Given the description of an element on the screen output the (x, y) to click on. 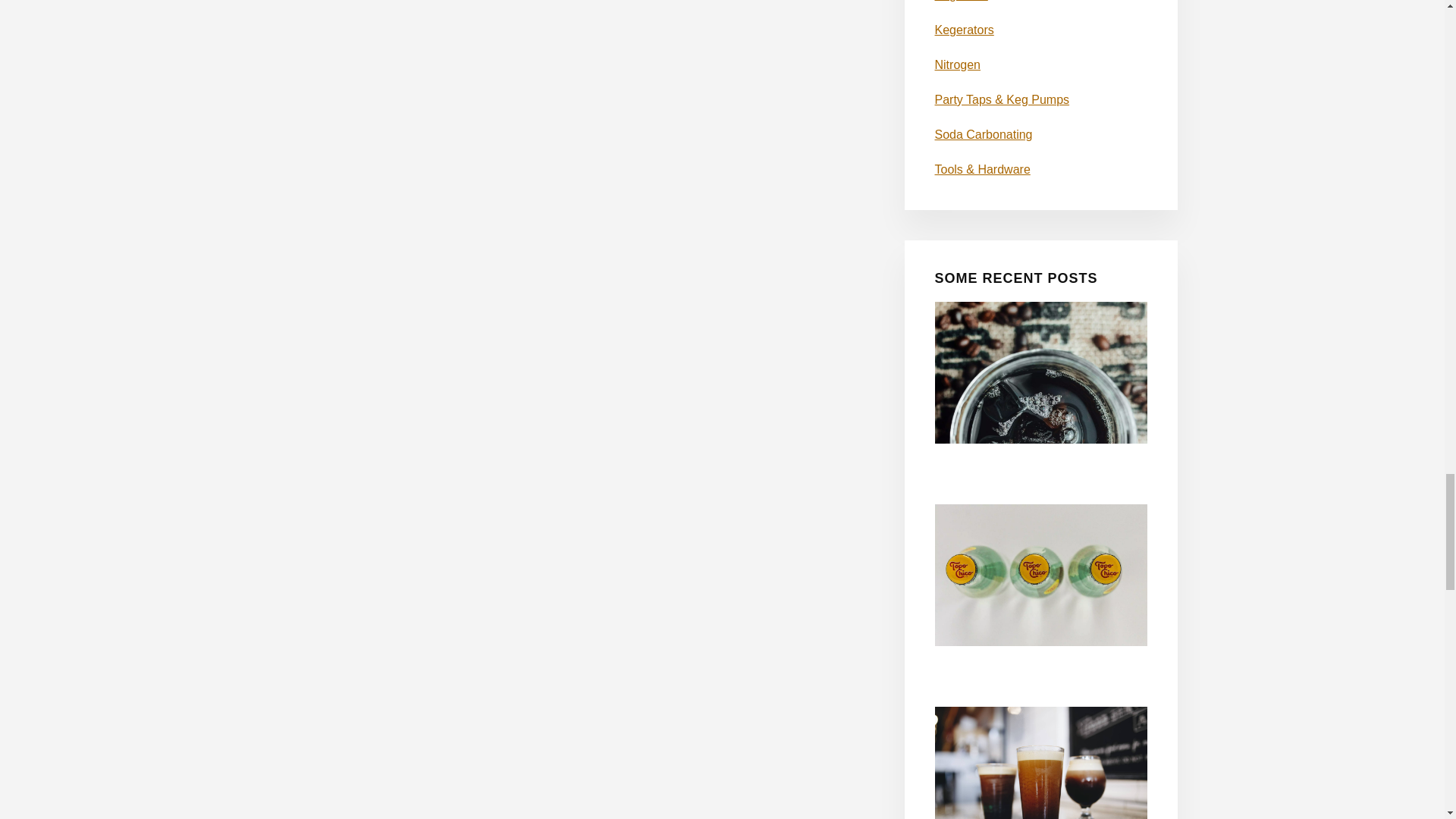
Kegerators (963, 29)
Soda Carbonation Kits, Soda Extracts (983, 133)
Party Taps, Keg Taps, Keg Pumps (1001, 99)
Corny Keg Parts, Cornelius Keg Parts (960, 0)
Keg Tools and Hardware, Kegging Tools (981, 169)
Nitrogen Keg Systems, Nitrogen Tanks, Nitrogen Keg Parts (956, 64)
